Given the description of an element on the screen output the (x, y) to click on. 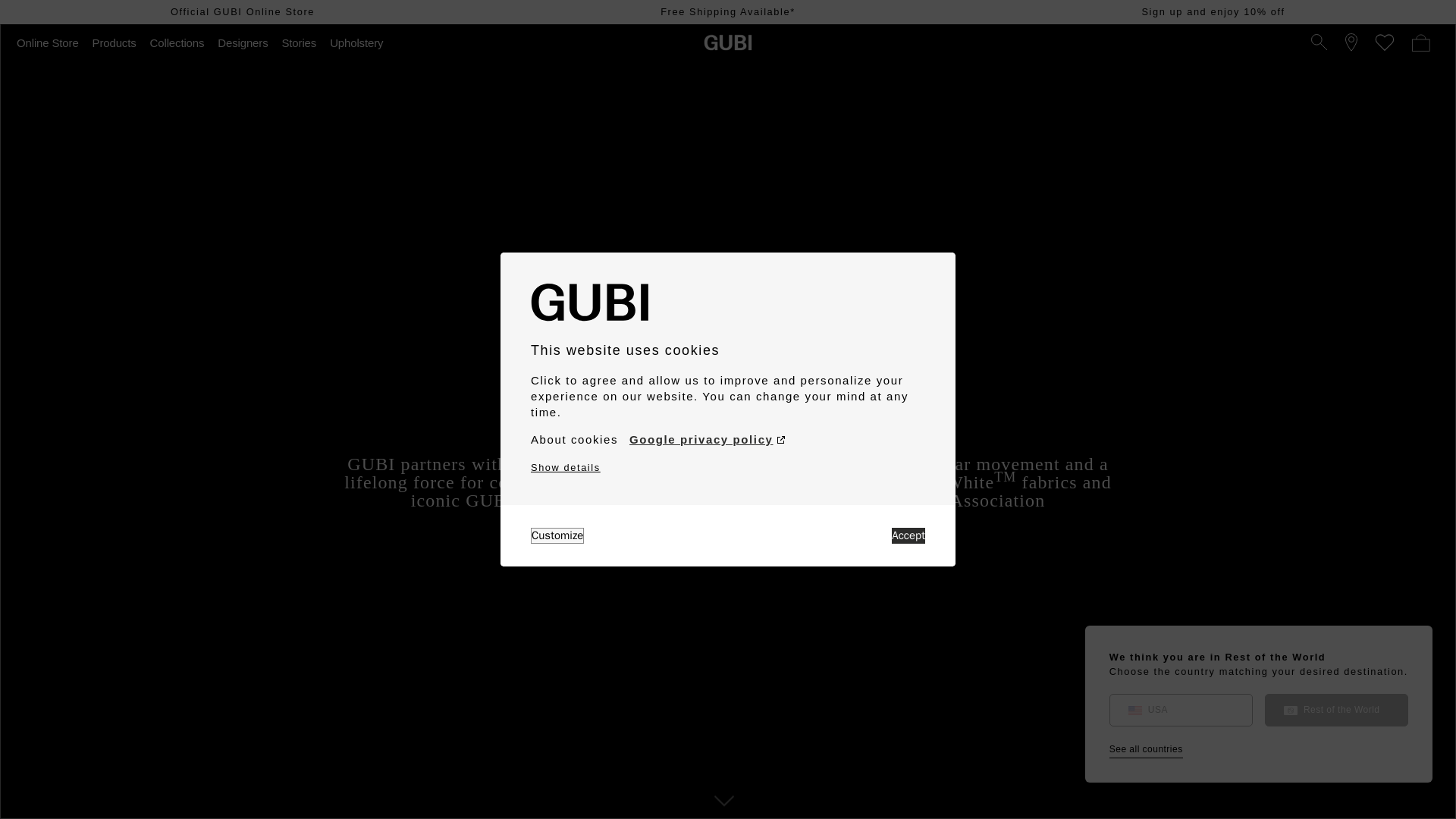
Show details (565, 467)
About cookies (574, 439)
Google privacy policy (707, 439)
